Given the description of an element on the screen output the (x, y) to click on. 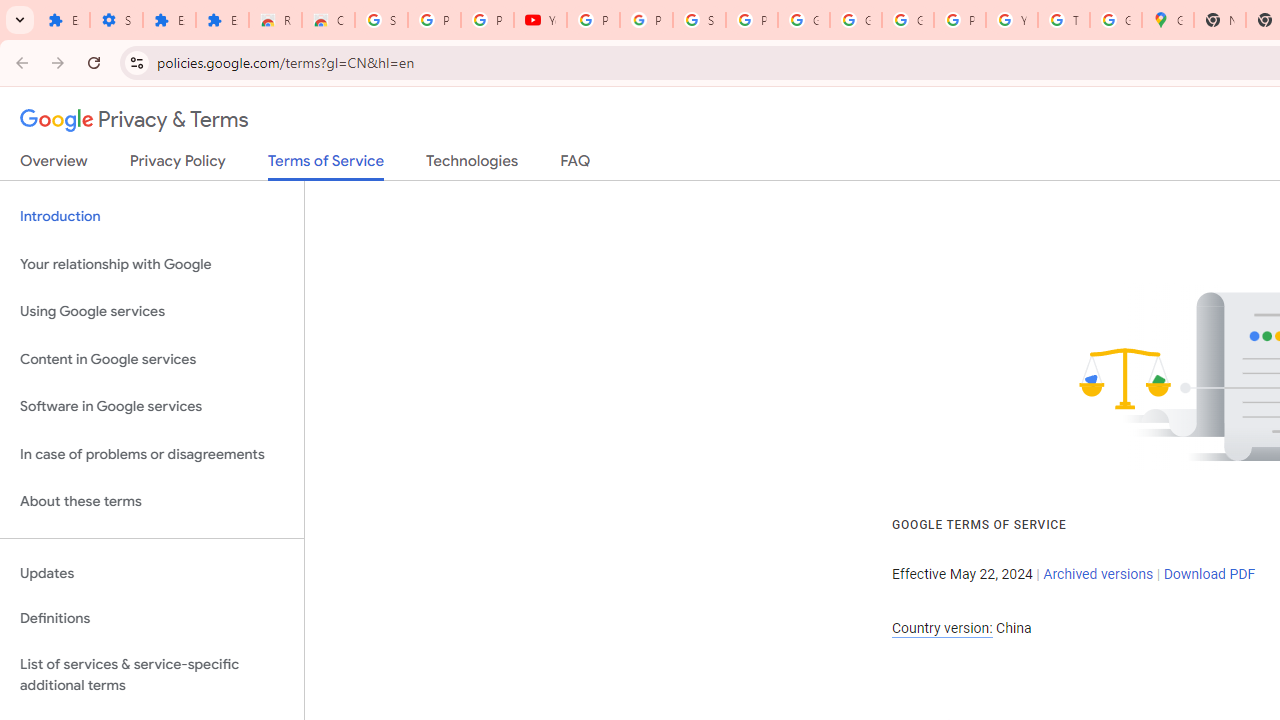
Software in Google services (152, 407)
Extensions (222, 20)
List of services & service-specific additional terms (152, 674)
Archived versions (1098, 574)
Definitions (152, 619)
Your relationship with Google (152, 263)
Download PDF (1209, 574)
Using Google services (152, 312)
Extensions (63, 20)
Chrome Web Store - Themes (328, 20)
